Given the description of an element on the screen output the (x, y) to click on. 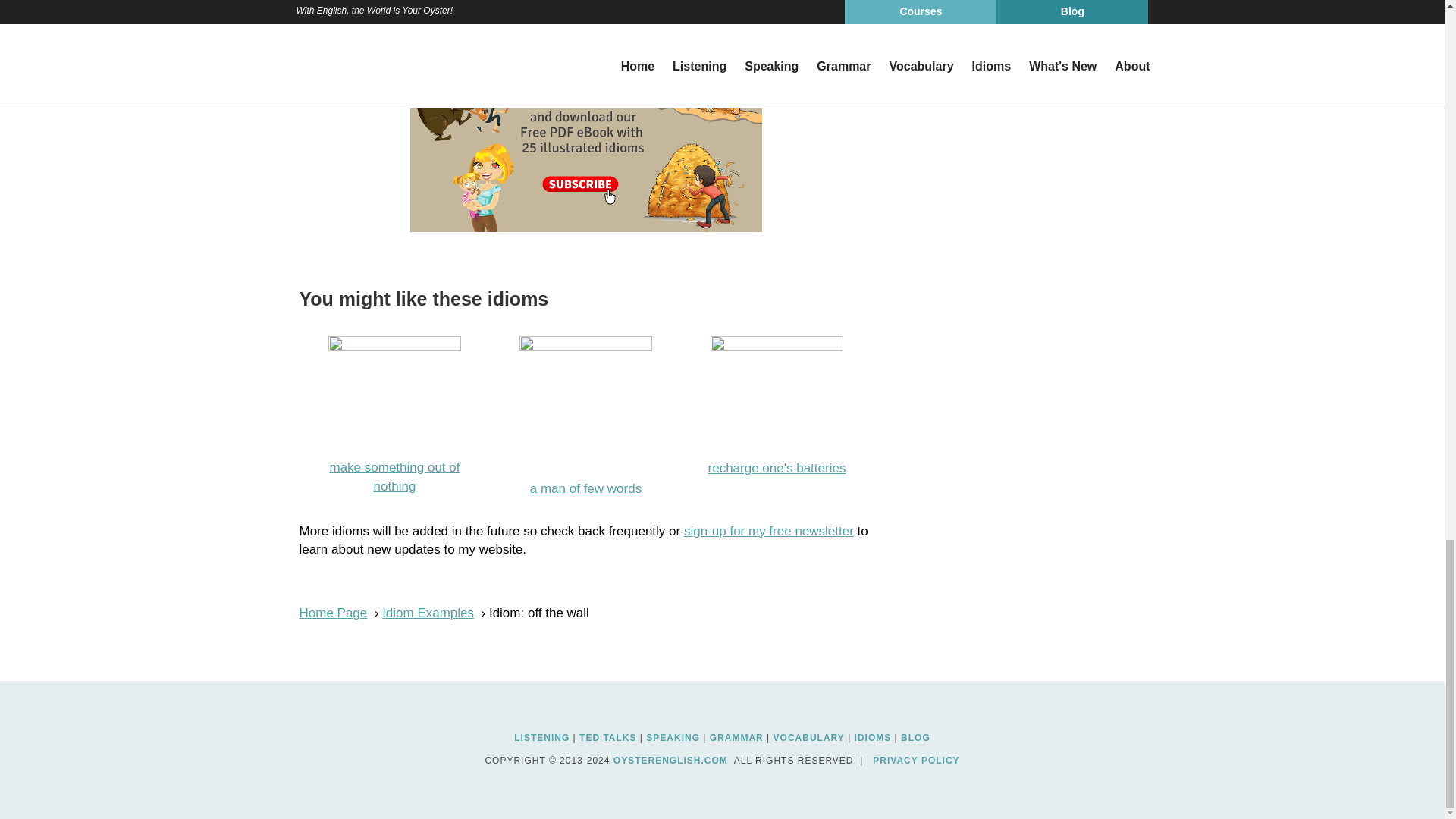
VOCABULARY (808, 738)
a man of few words (585, 489)
OYSTERENGLISH.COM (670, 760)
recharge one's batteries (776, 468)
PRIVACY POLICY (915, 760)
GRAMMAR (736, 738)
LISTENING (541, 738)
sign-up for my free newsletter (768, 531)
make something out of nothing (394, 477)
BLOG (915, 738)
